Given the description of an element on the screen output the (x, y) to click on. 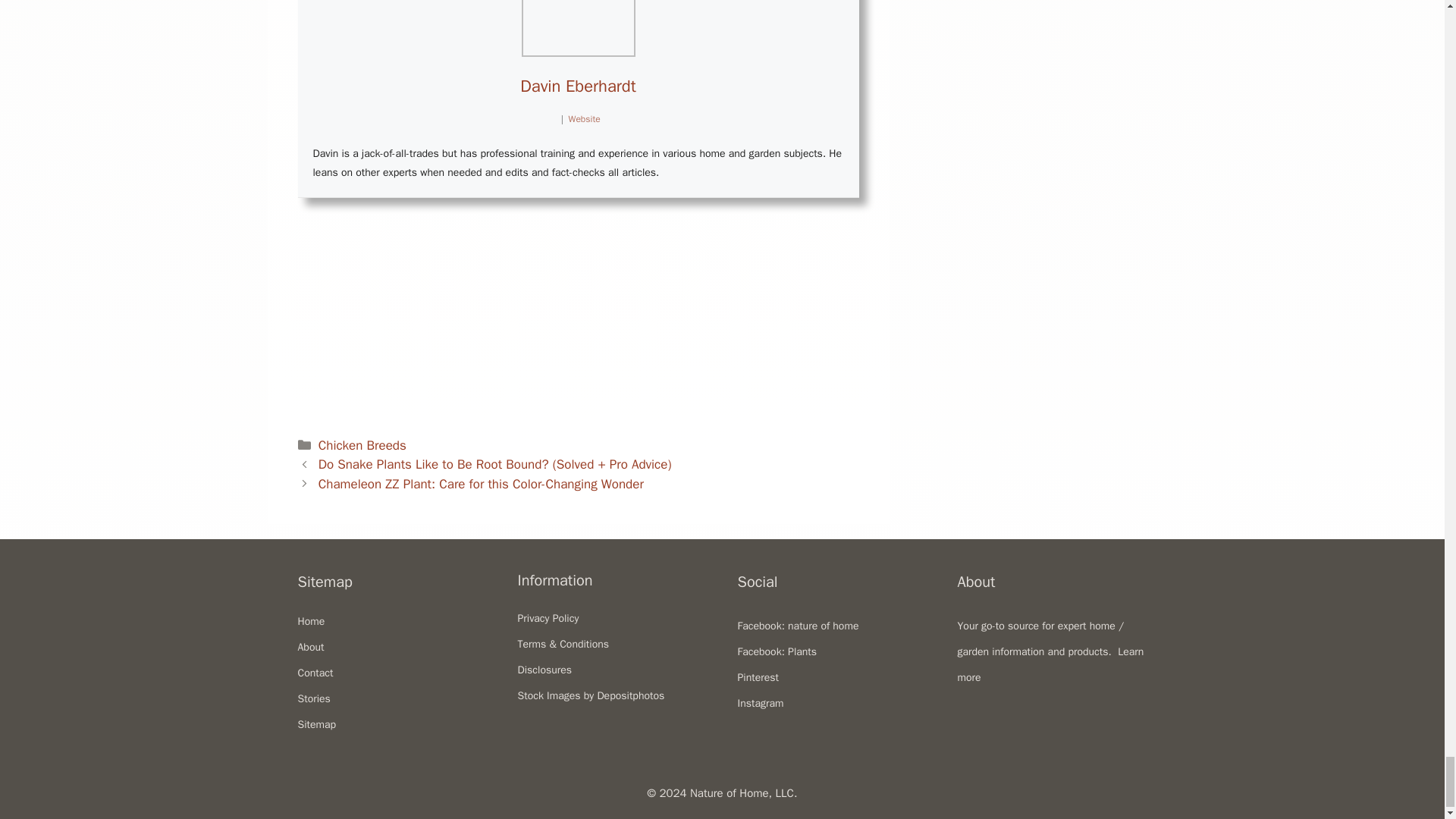
Website (584, 119)
Davin Eberhardt (576, 86)
